Given the description of an element on the screen output the (x, y) to click on. 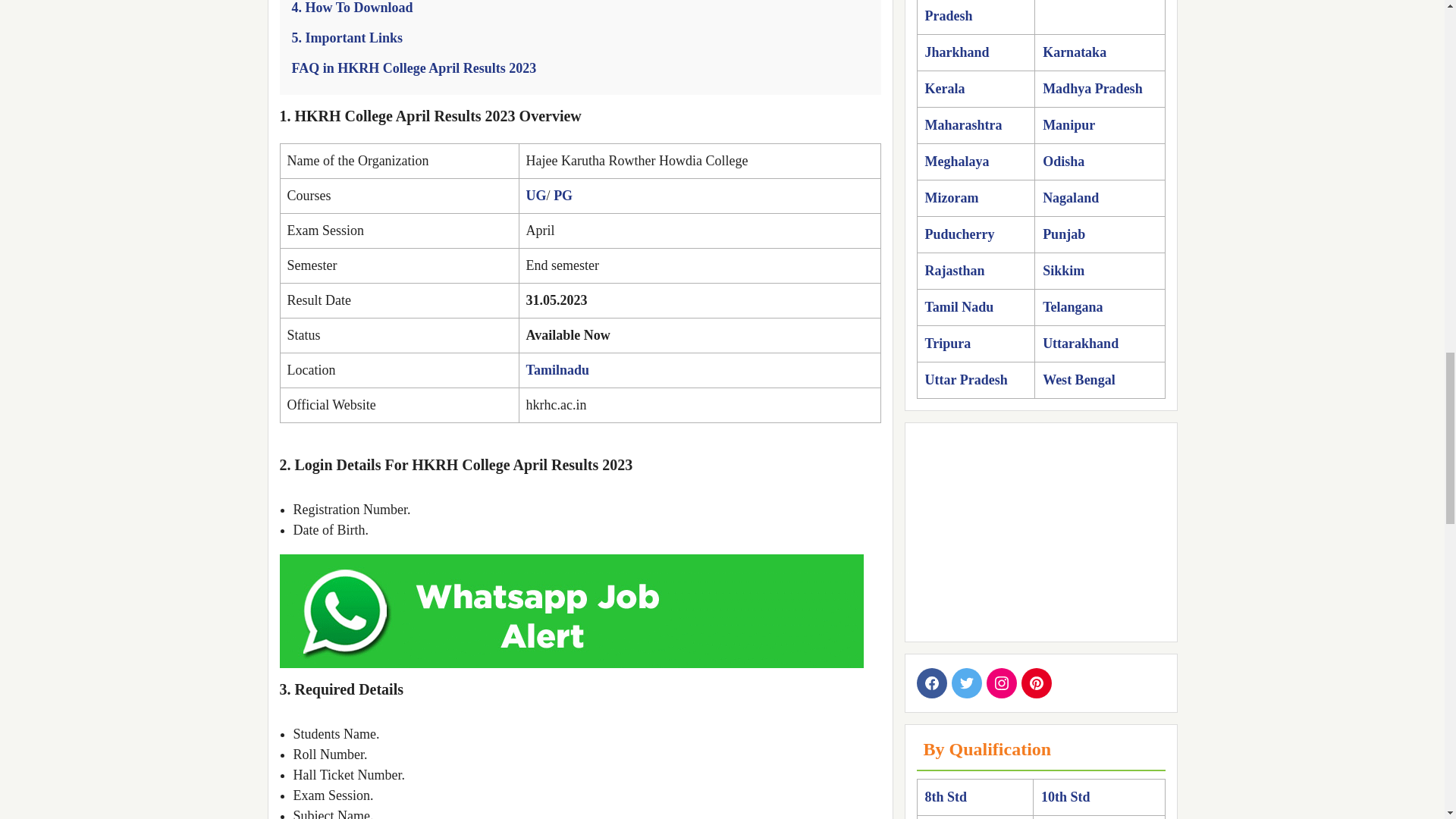
4. How To Download (351, 7)
UG (536, 195)
5. Important Links (347, 37)
FAQ in HKRH College April Results 2023 (413, 68)
